Given the description of an element on the screen output the (x, y) to click on. 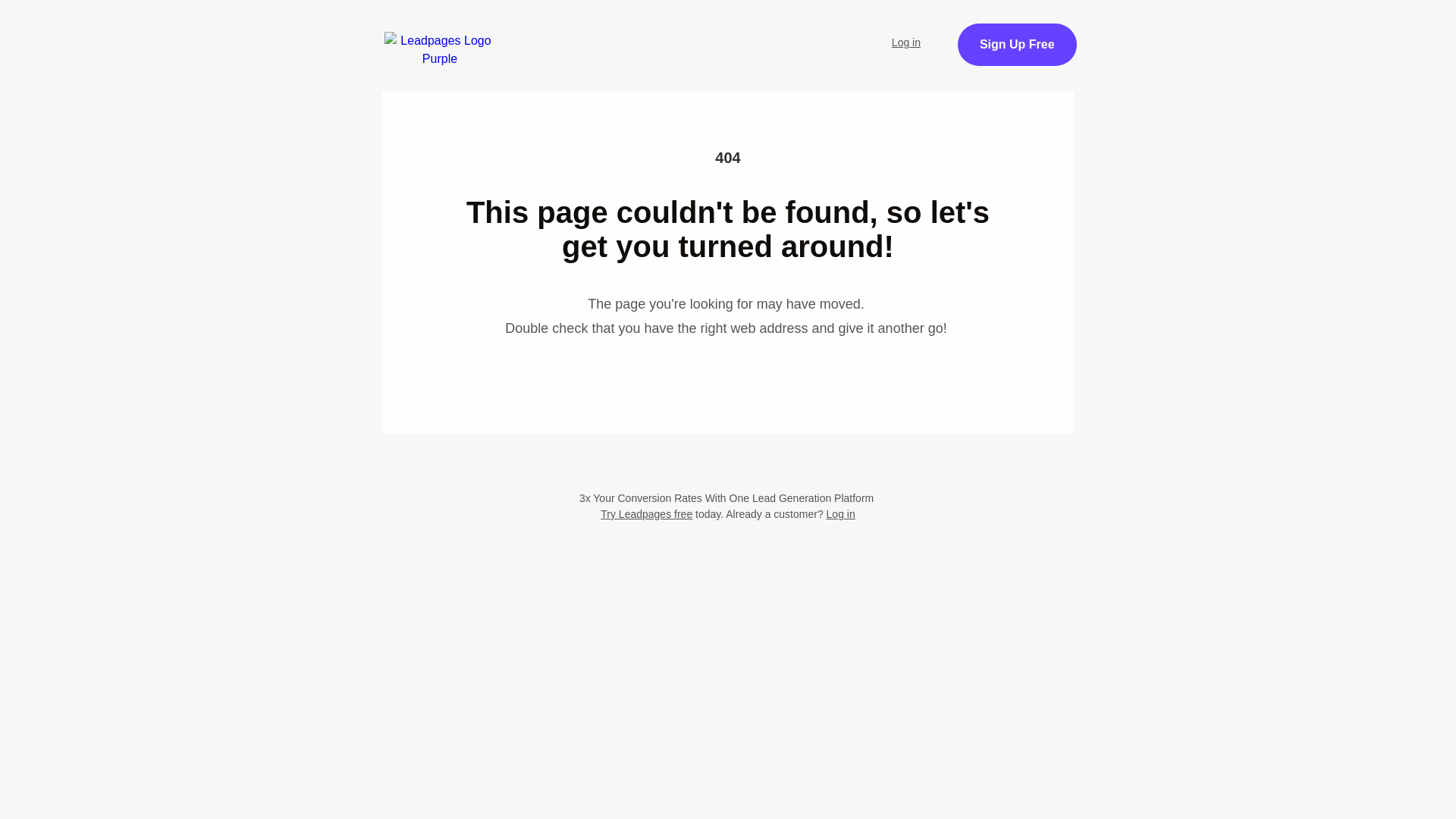
Our Verse of the Day (791, 33)
HOME (501, 33)
Start Spiritual Gifts Test (627, 33)
Get Free Book From The Ministry (727, 150)
Give To The Ministry (529, 74)
Get Free Prophecy (1070, 53)
